Given the description of an element on the screen output the (x, y) to click on. 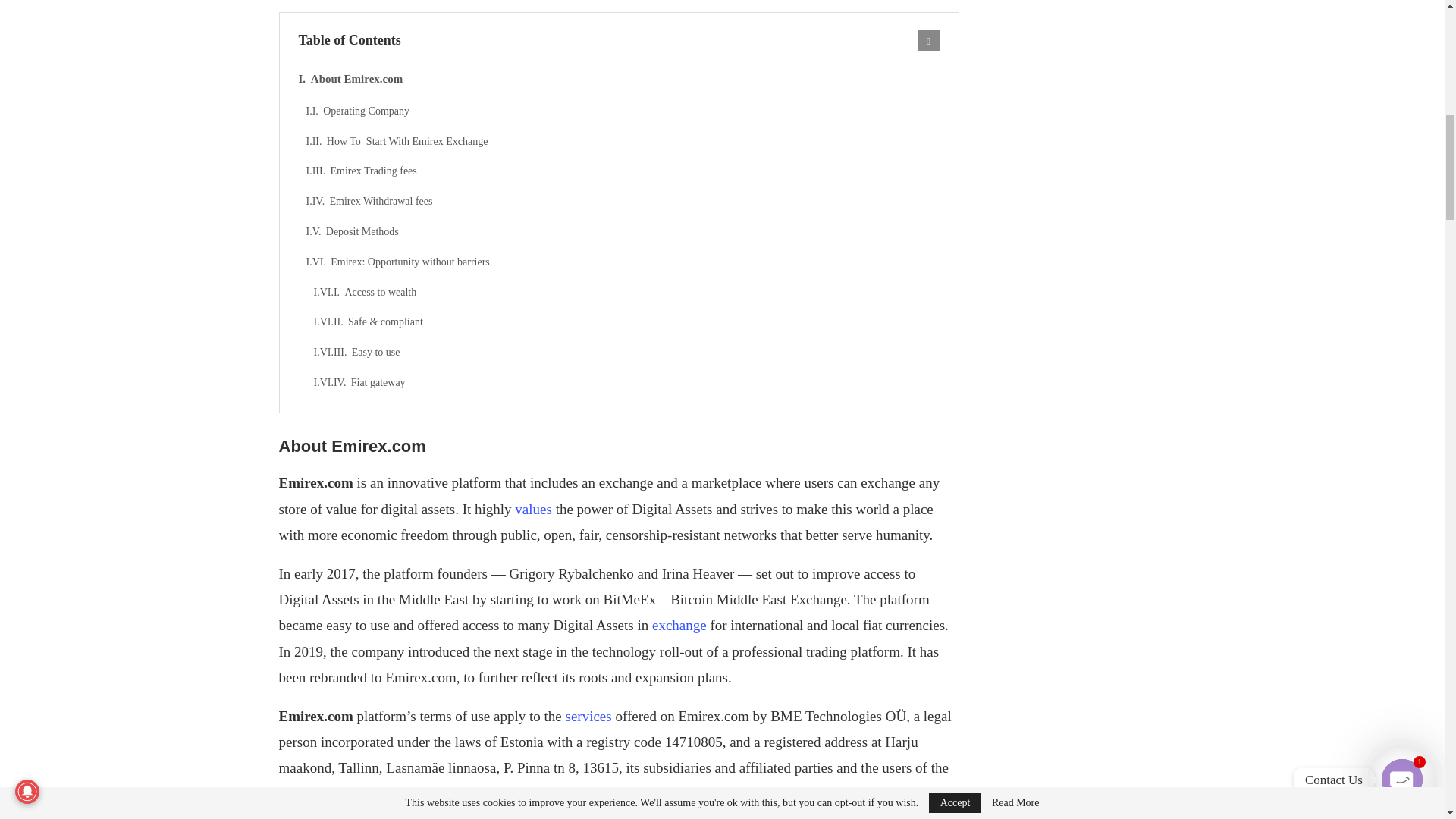
Emirex: Opportunity without barriers (622, 262)
Access to wealth (626, 292)
Emirex Trading fees (622, 171)
Fiat gateway (626, 382)
Deposit Methods (622, 232)
About Emirex.com (618, 79)
Emirex Withdrawal fees (622, 201)
Easy to use (626, 352)
